Given the description of an element on the screen output the (x, y) to click on. 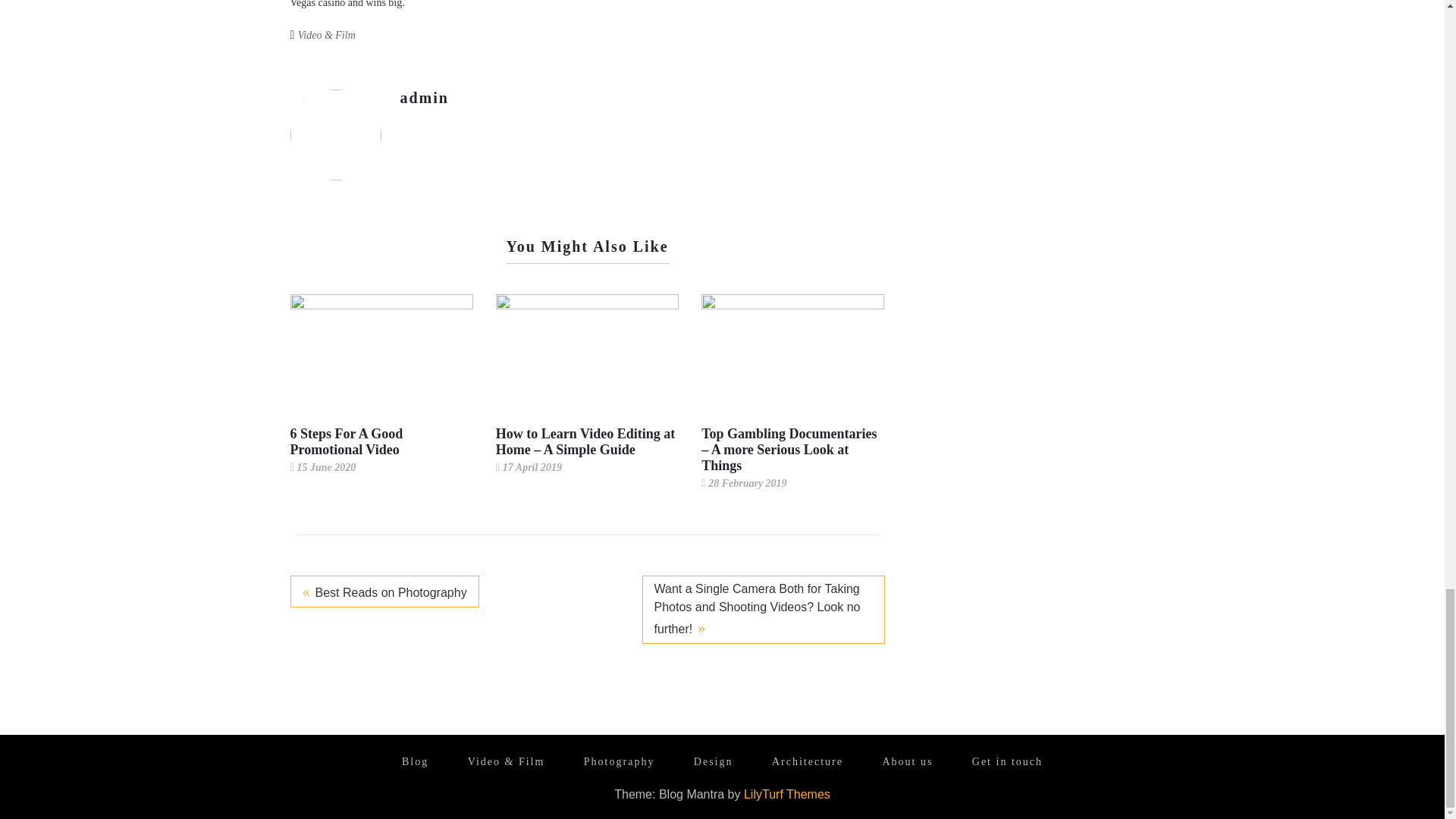
About us (906, 761)
admin (424, 97)
Design (713, 761)
Get in touch (1006, 761)
Photography (619, 761)
17 April 2019 (532, 467)
Best Reads on Photography (384, 591)
28 February 2019 (746, 482)
Blog (415, 761)
6 Steps For A Good Promotional Video (346, 441)
